Given the description of an element on the screen output the (x, y) to click on. 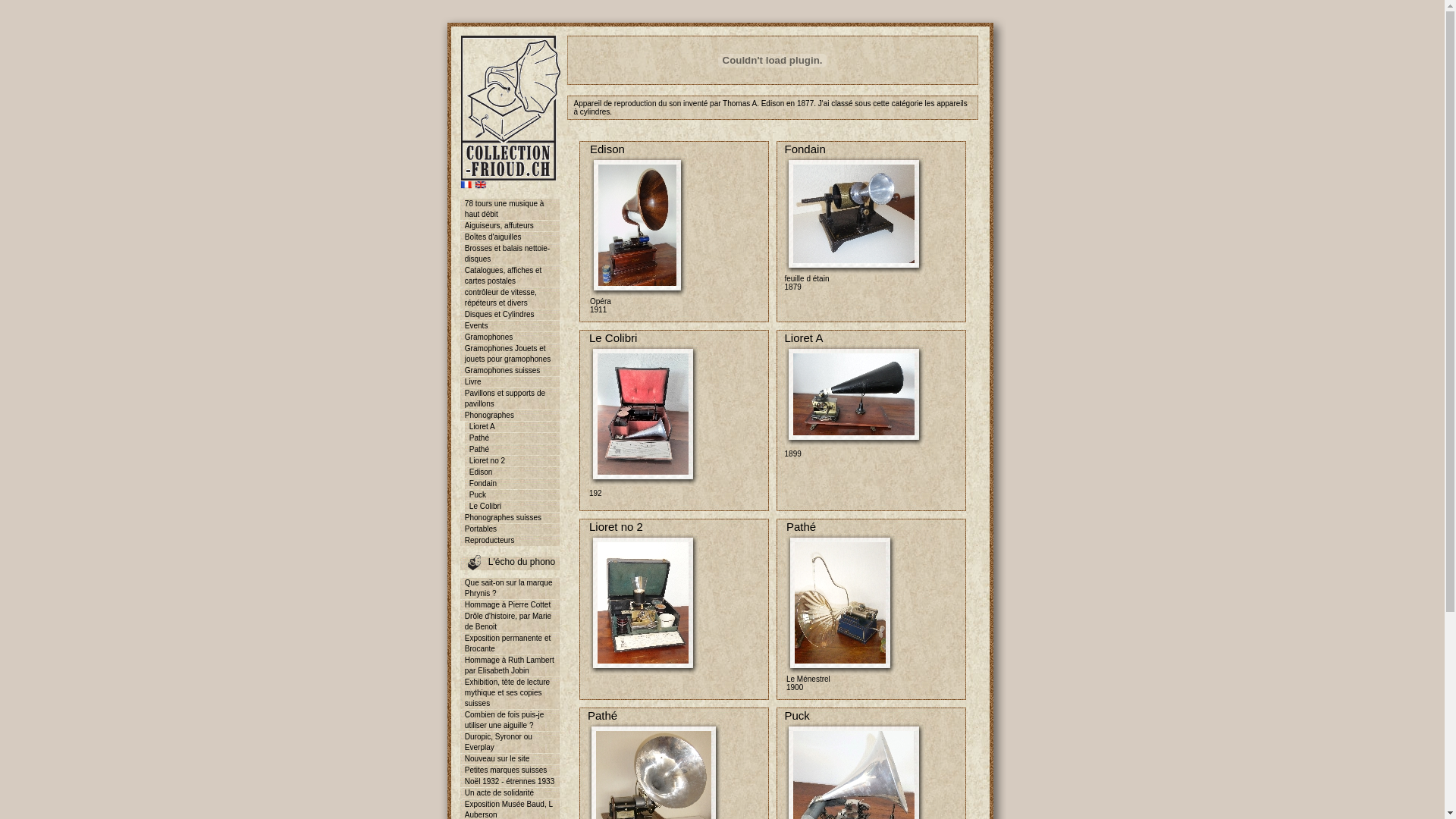
Que sait-on sur la marque Phrynis ? Element type: text (509, 588)
Lioret no 2 Element type: text (511, 460)
Exposition permanente et Brocante Element type: text (509, 643)
Edison Element type: text (511, 472)
Disques et Cylindres Element type: text (509, 314)
Combien de fois puis-je utiliser une aiguille ? Element type: text (509, 720)
Events Element type: text (509, 325)
Gramophones suisses Element type: text (509, 370)
Portables Element type: text (509, 529)
Phonographes suisses Element type: text (509, 517)
Lioret A Element type: text (511, 426)
Catalogues, affiches et cartes postales Element type: text (509, 275)
Phonographes Element type: text (509, 415)
Aiguiseurs, affuteurs Element type: text (509, 225)
Le Colibri Element type: text (511, 506)
Pavillons et supports de pavillons Element type: text (509, 398)
Petites marques suisses Element type: text (509, 770)
Gramophones Element type: text (509, 337)
Duropic, Syronor ou Everplay Element type: text (509, 742)
Livre Element type: text (509, 381)
Nouveau sur le site Element type: text (509, 758)
Gramophones Jouets et jouets pour gramophones Element type: text (509, 353)
Puck Element type: text (511, 494)
Brosses et balais nettoie-disques Element type: text (509, 253)
Reproducteurs Element type: text (509, 540)
Fondain Element type: text (511, 483)
